Given the description of an element on the screen output the (x, y) to click on. 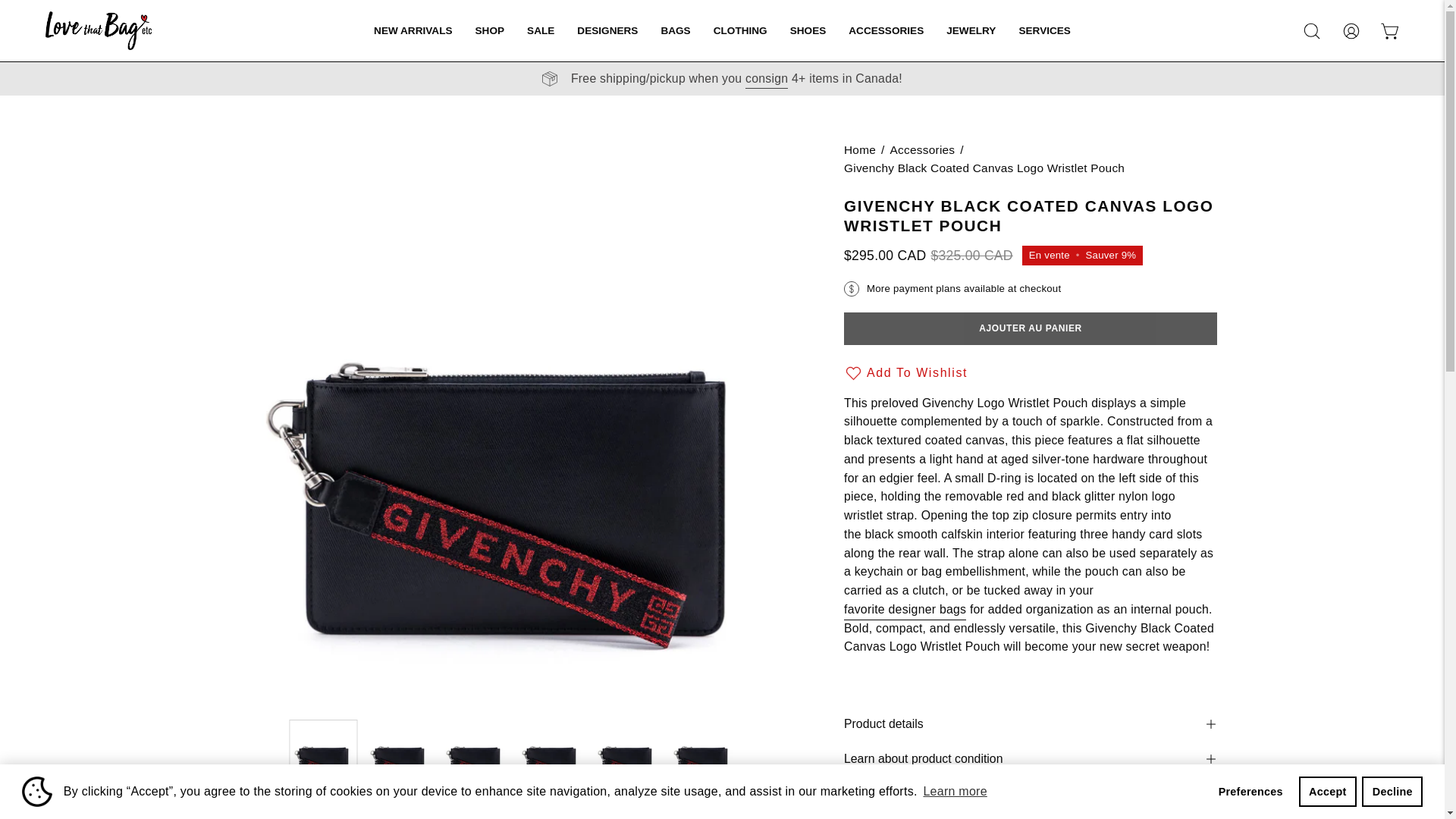
Ouvrir la barre de recherche (1311, 30)
Accept (1327, 791)
Retour a la page d'acceuil (860, 149)
Learn more (955, 791)
Preferences (1250, 791)
Learn about luxury consignment in Canada (766, 78)
Decline (1391, 791)
